Given the description of an element on the screen output the (x, y) to click on. 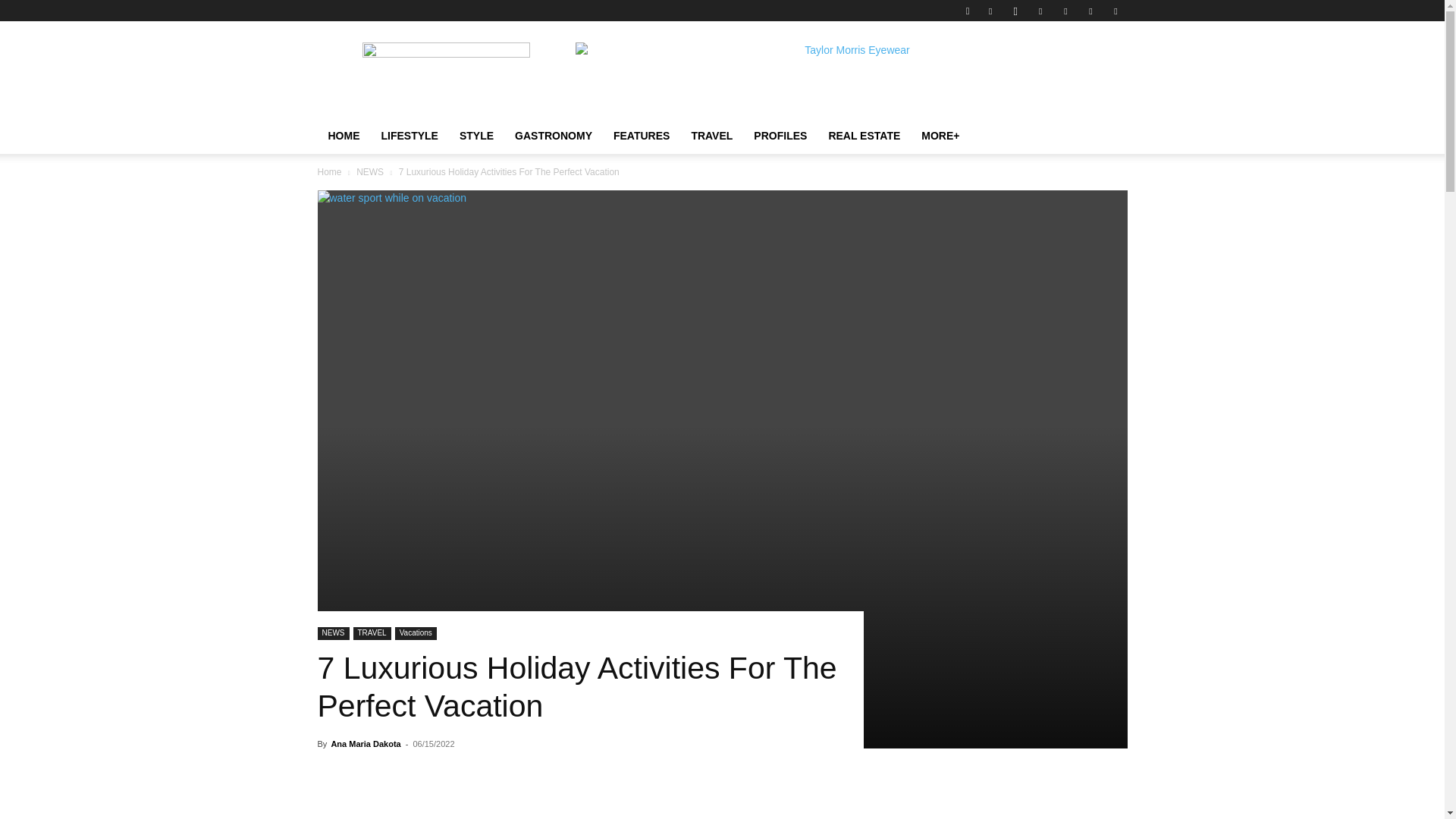
Instagram (1015, 10)
Facebook (989, 10)
Pinterest (1065, 10)
Linkedin (1040, 10)
